Given the description of an element on the screen output the (x, y) to click on. 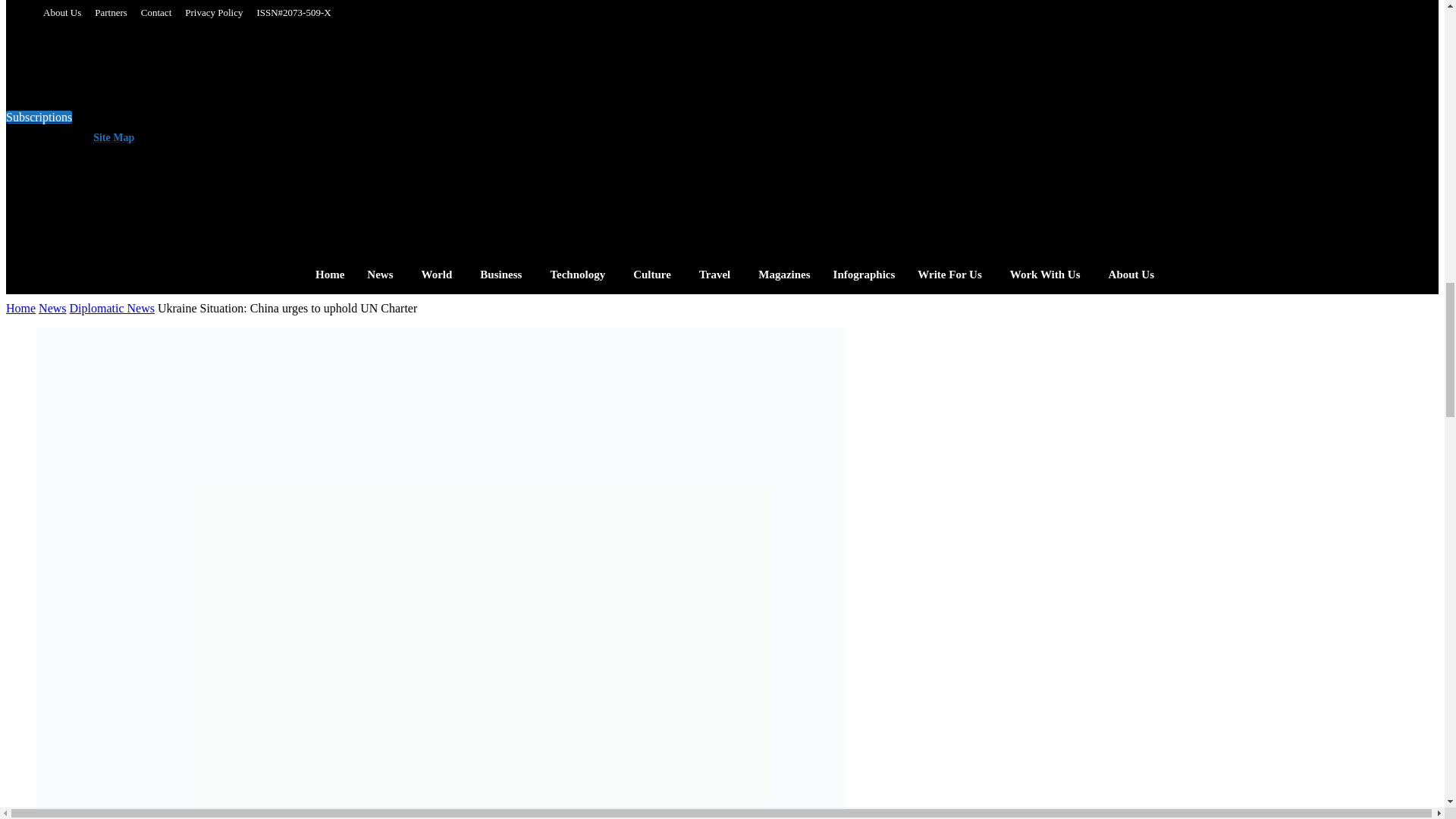
Facebook (321, 131)
Youtube (443, 131)
Site Map (110, 137)
View all posts in News (52, 308)
Linkedin (382, 131)
Subscriptions (38, 116)
Twitter (412, 131)
Instagram (352, 131)
View all posts in Diplomatic News (111, 308)
